Given the description of an element on the screen output the (x, y) to click on. 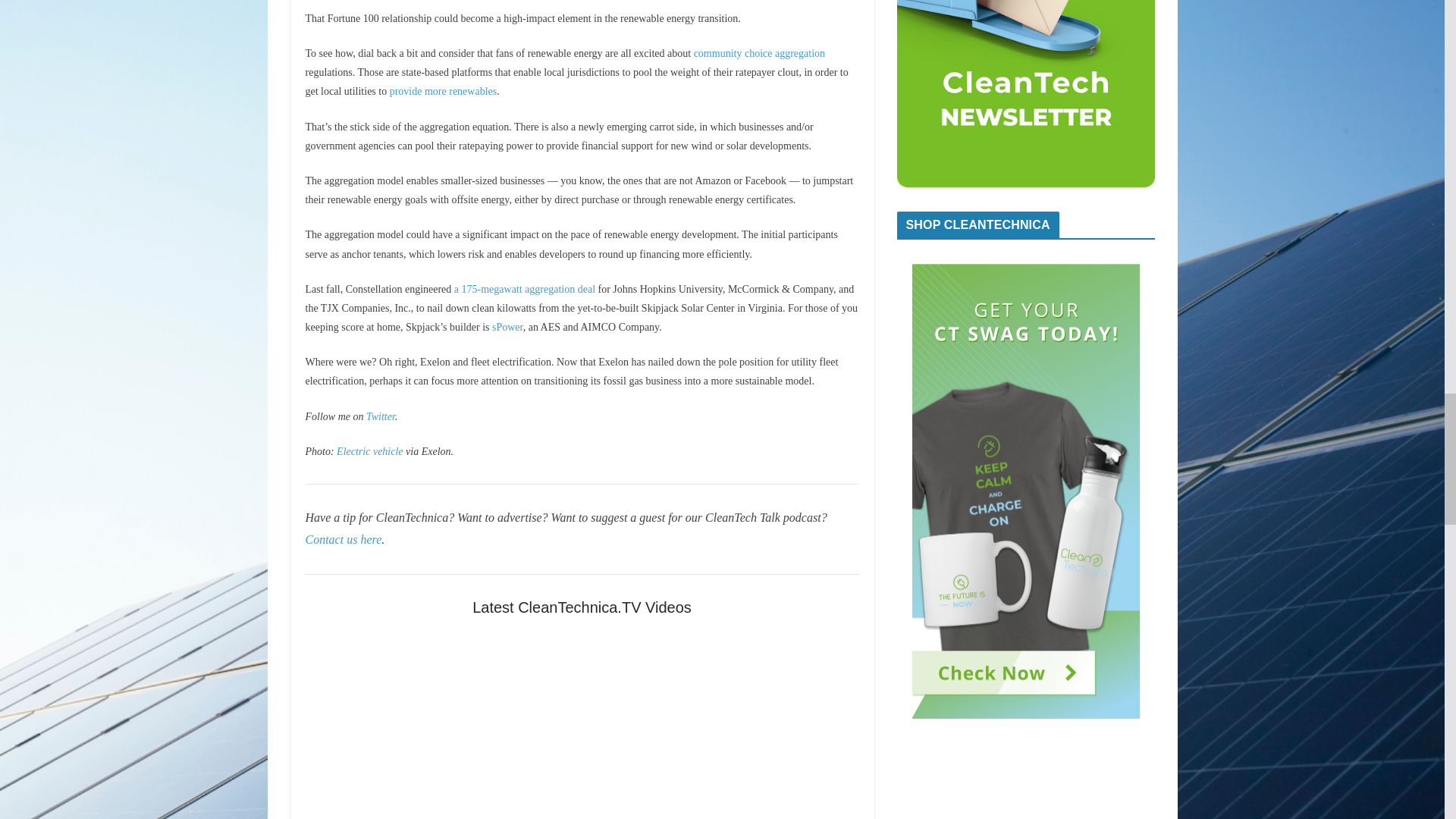
YouTube video player (581, 725)
